Given the description of an element on the screen output the (x, y) to click on. 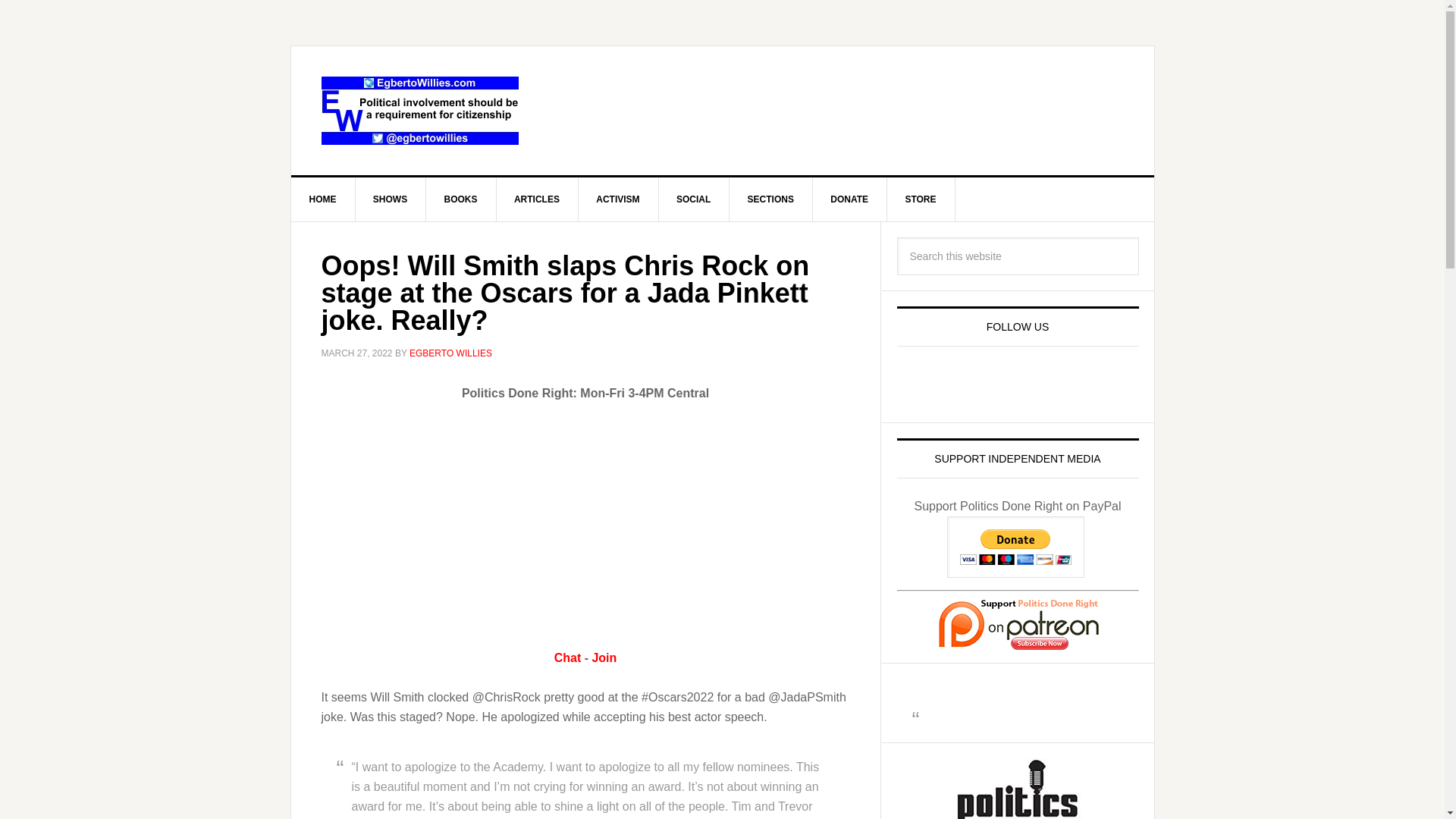
ARTICLES (537, 199)
PayPal - The safer, easier way to pay online! (1015, 547)
BOOKS (461, 199)
HOME (323, 199)
ACTIVISM (618, 199)
EGBERTOWILLIES.COM (419, 110)
SHOWS (390, 199)
SOCIAL (693, 199)
